Given the description of an element on the screen output the (x, y) to click on. 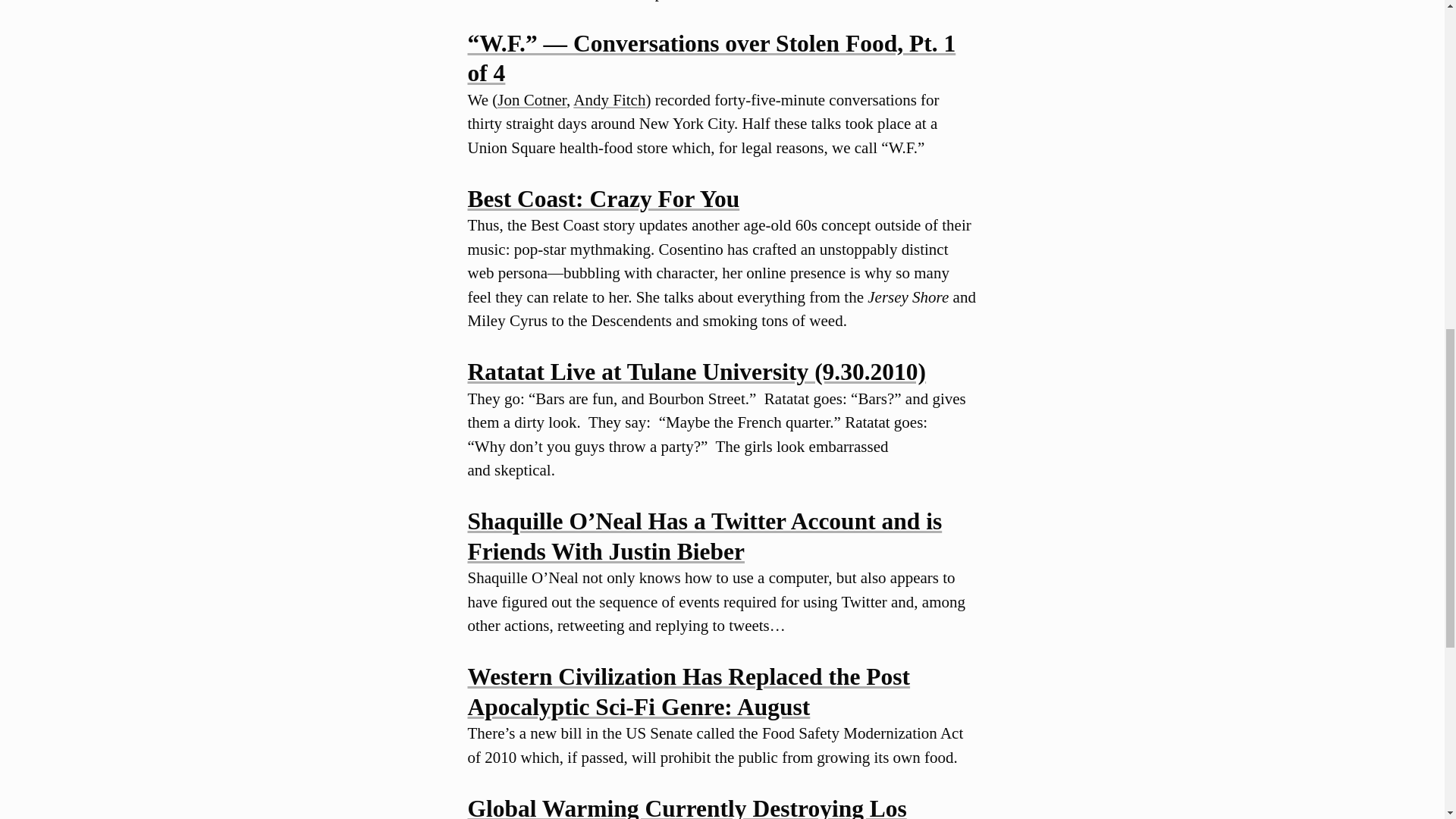
Best Coast: Crazy For You (603, 198)
Jon Cotner (531, 99)
Andy Fitch (609, 99)
